Given the description of an element on the screen output the (x, y) to click on. 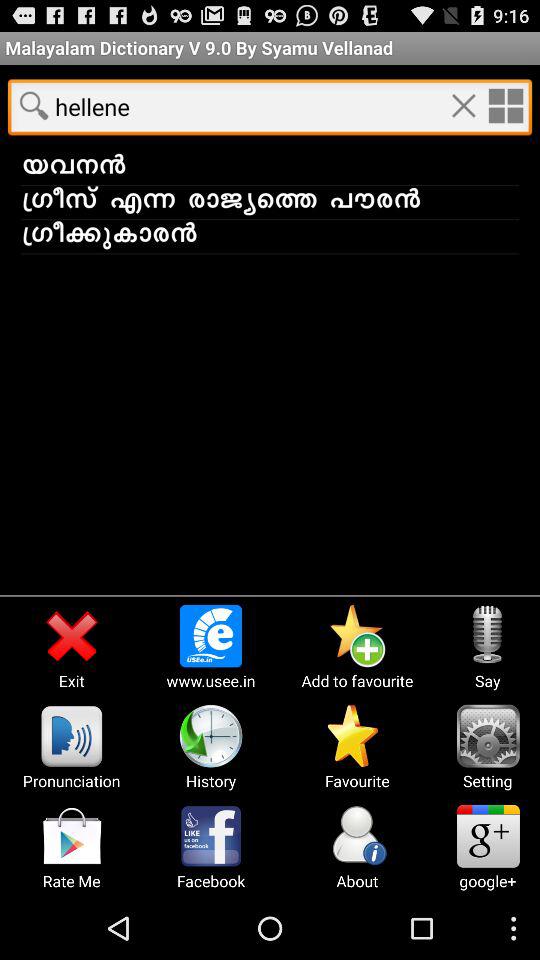
go to search (34, 105)
